Given the description of an element on the screen output the (x, y) to click on. 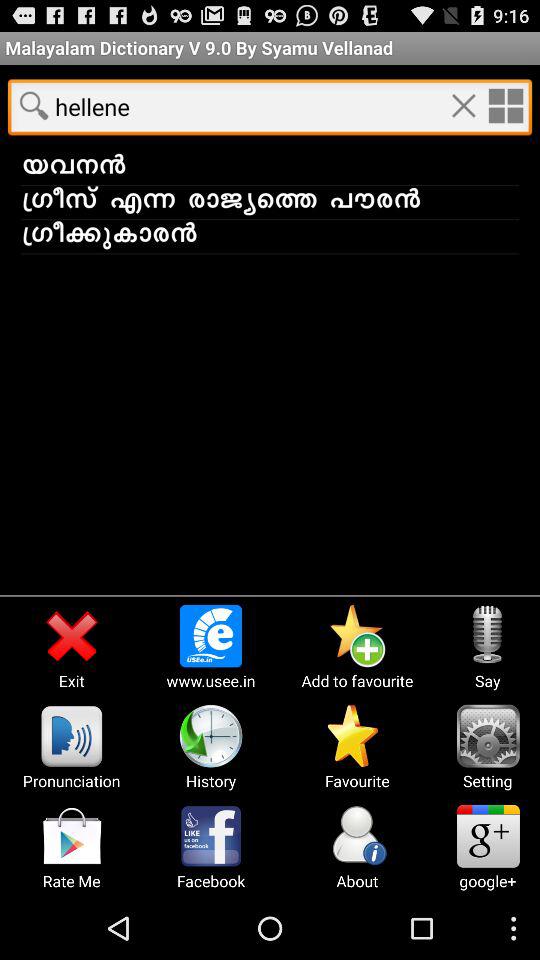
go to search (34, 105)
